Given the description of an element on the screen output the (x, y) to click on. 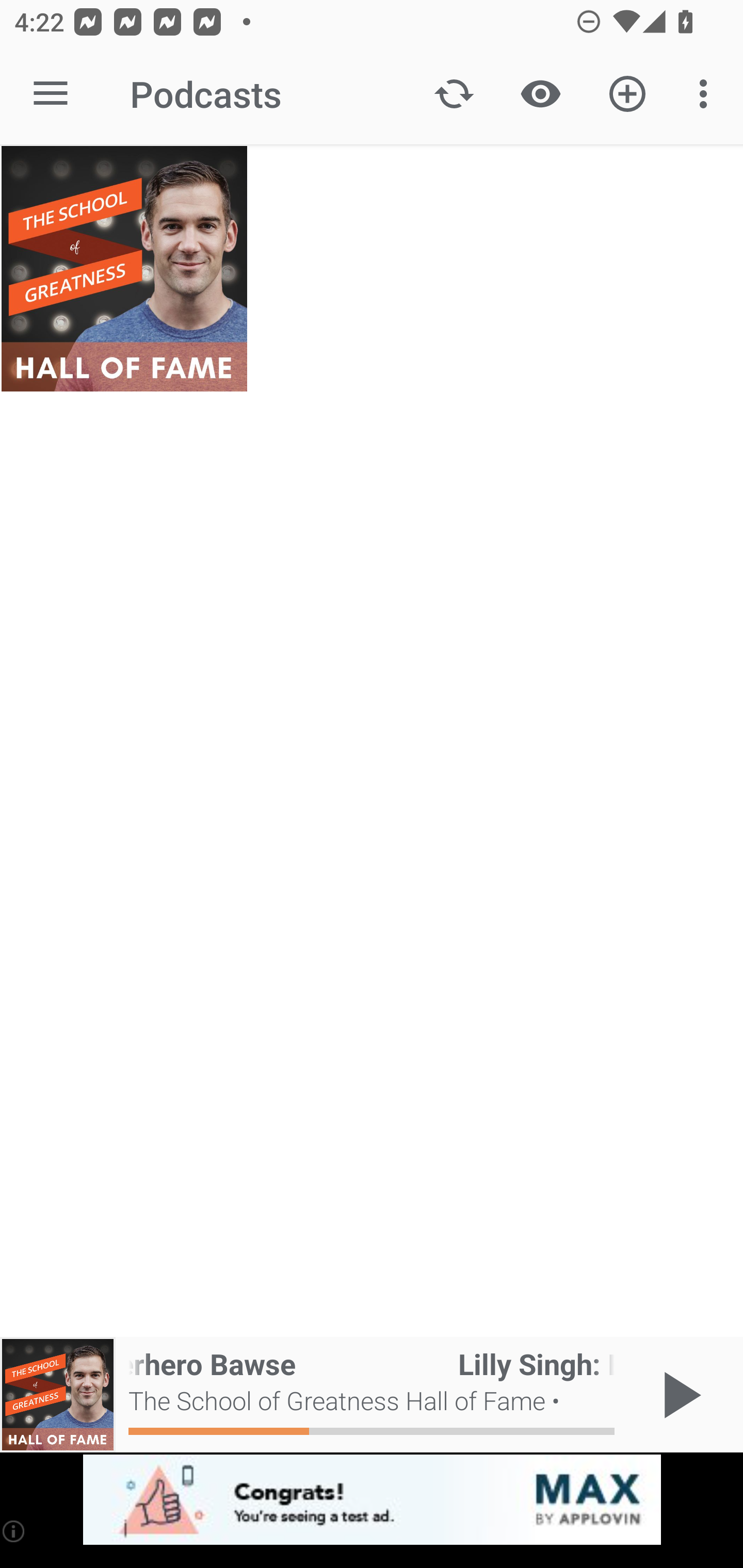
Open navigation sidebar (50, 93)
Update (453, 93)
Show / Hide played content (540, 93)
Add new Podcast (626, 93)
More options (706, 93)
The School of Greatness Hall of Fame (124, 268)
Play / Pause (677, 1394)
app-monetization (371, 1500)
(i) (14, 1531)
